Given the description of an element on the screen output the (x, y) to click on. 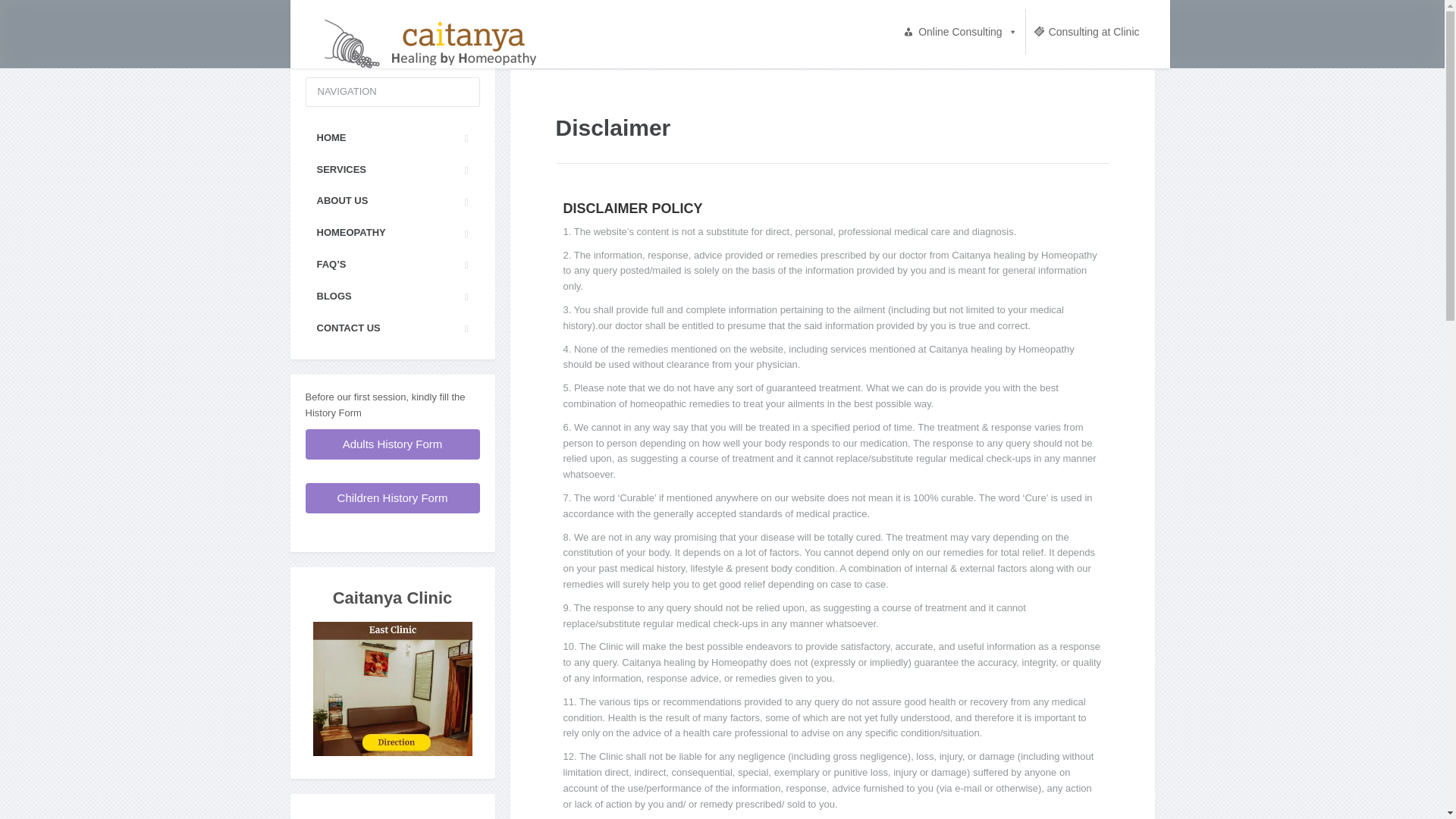
Consulting at Clinic (1086, 31)
Children History Form (392, 497)
Adults History Form (392, 443)
ABOUT US (391, 201)
SERVICES (391, 169)
Online Consulting (960, 31)
CONTACT US (391, 327)
HOMEOPATHY (391, 232)
BLOGS (391, 296)
HOME (391, 137)
